Given the description of an element on the screen output the (x, y) to click on. 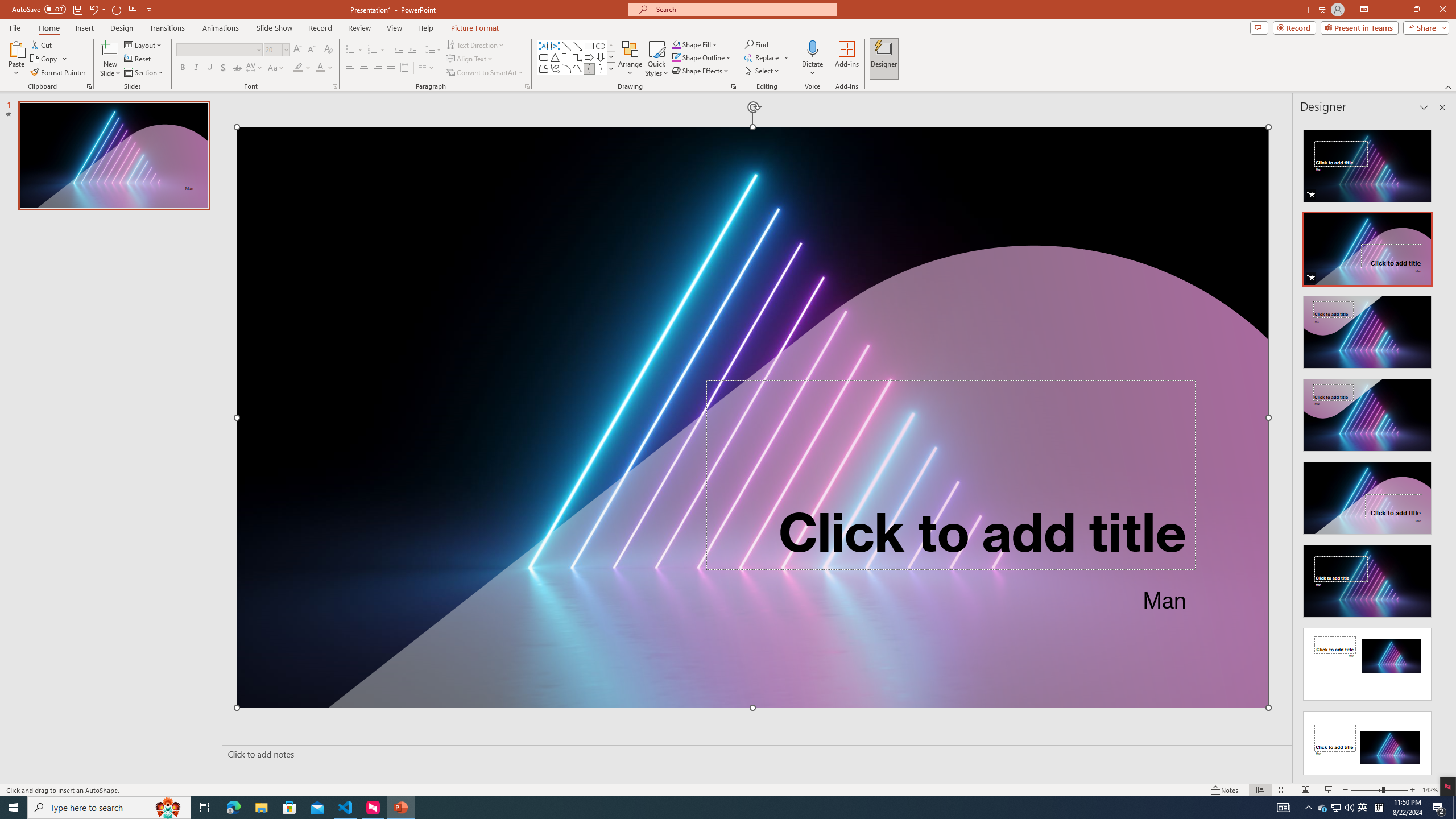
Picture Format (475, 28)
